Given the description of an element on the screen output the (x, y) to click on. 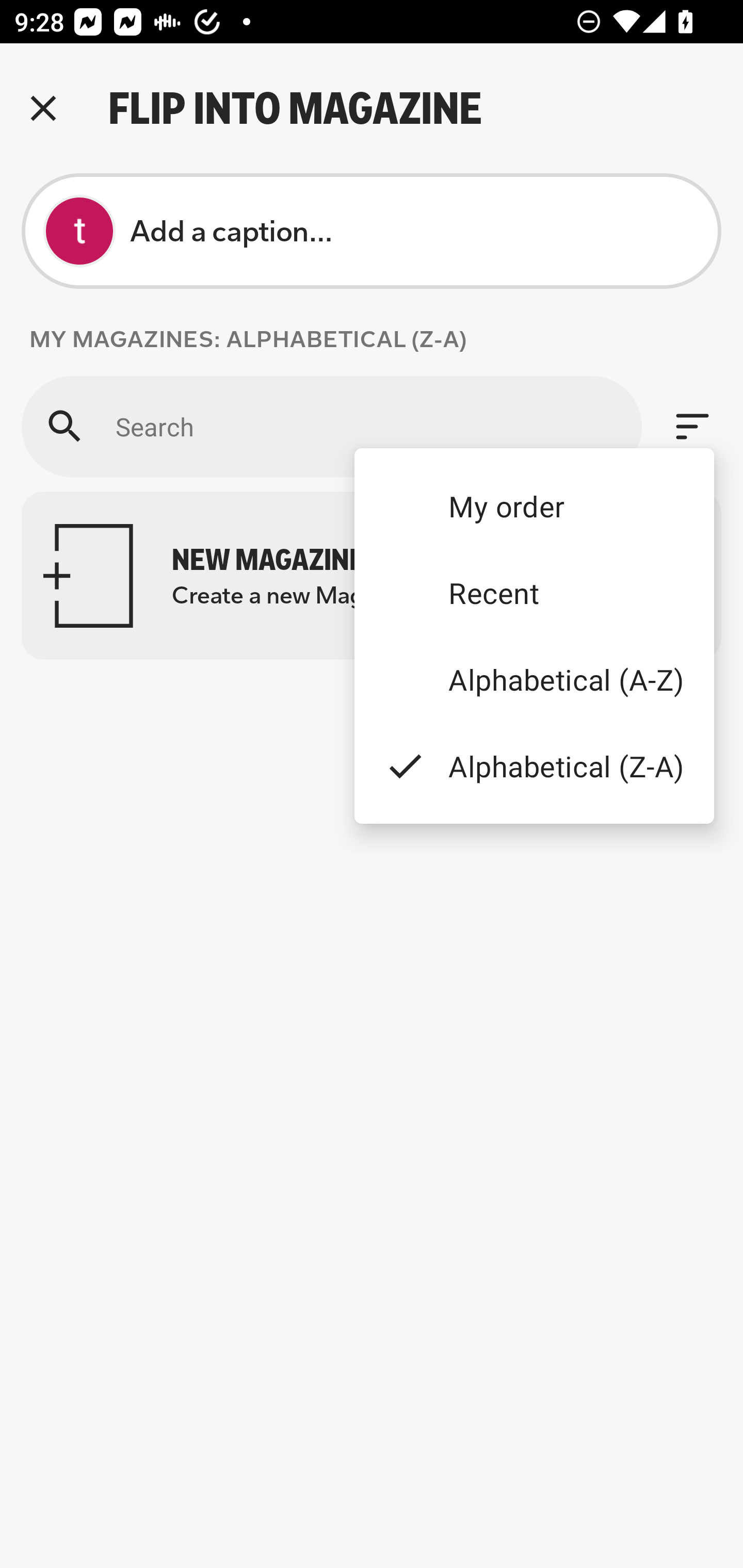
My order (534, 505)
Recent (534, 592)
Alphabetical (A-Z) (534, 679)
Alphabetical (Z-A) (534, 765)
